Given the description of an element on the screen output the (x, y) to click on. 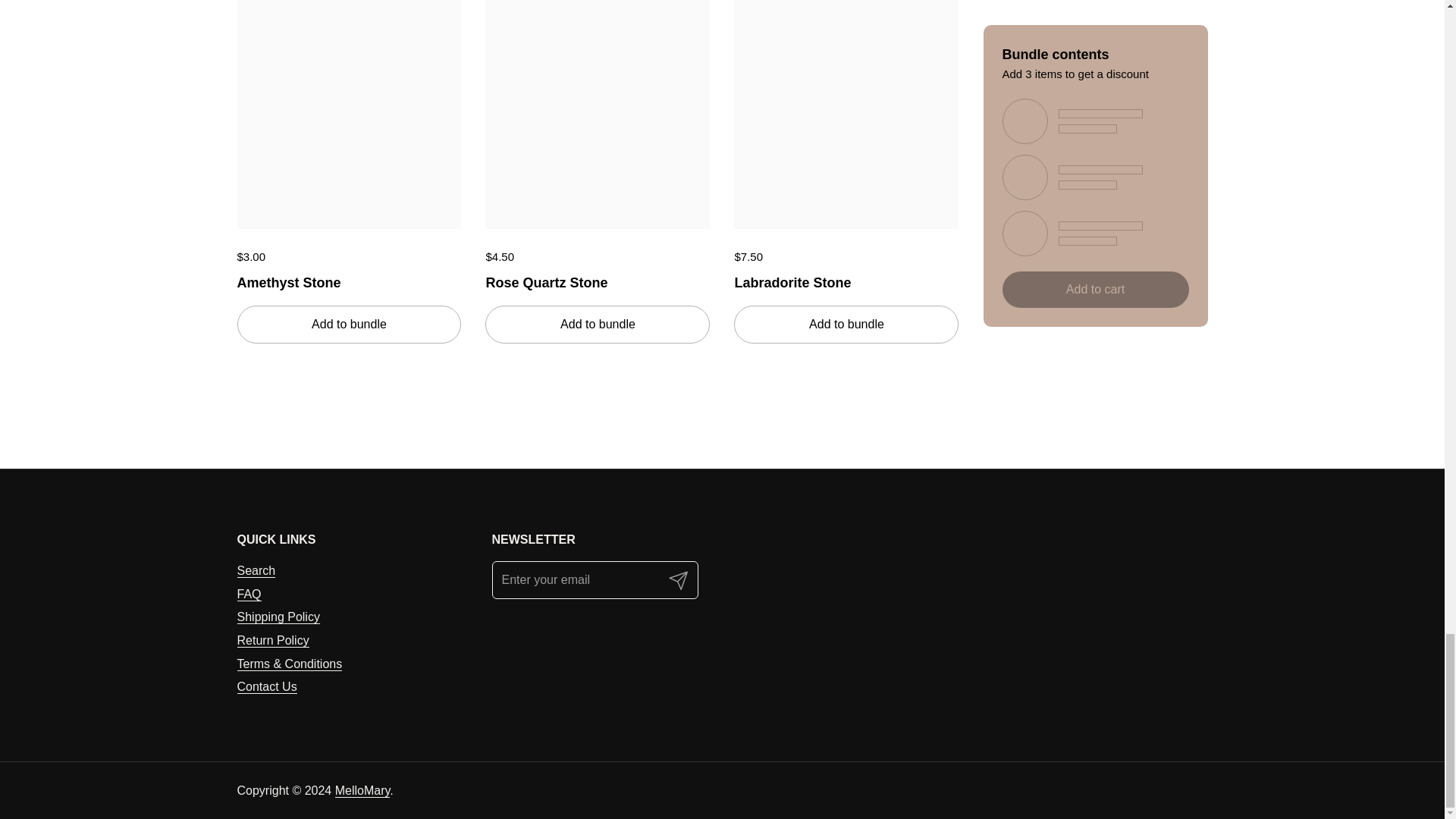
Rose Quartz Stone (597, 279)
Amethyst Stone (348, 279)
Labradorite Stone (845, 279)
